Given the description of an element on the screen output the (x, y) to click on. 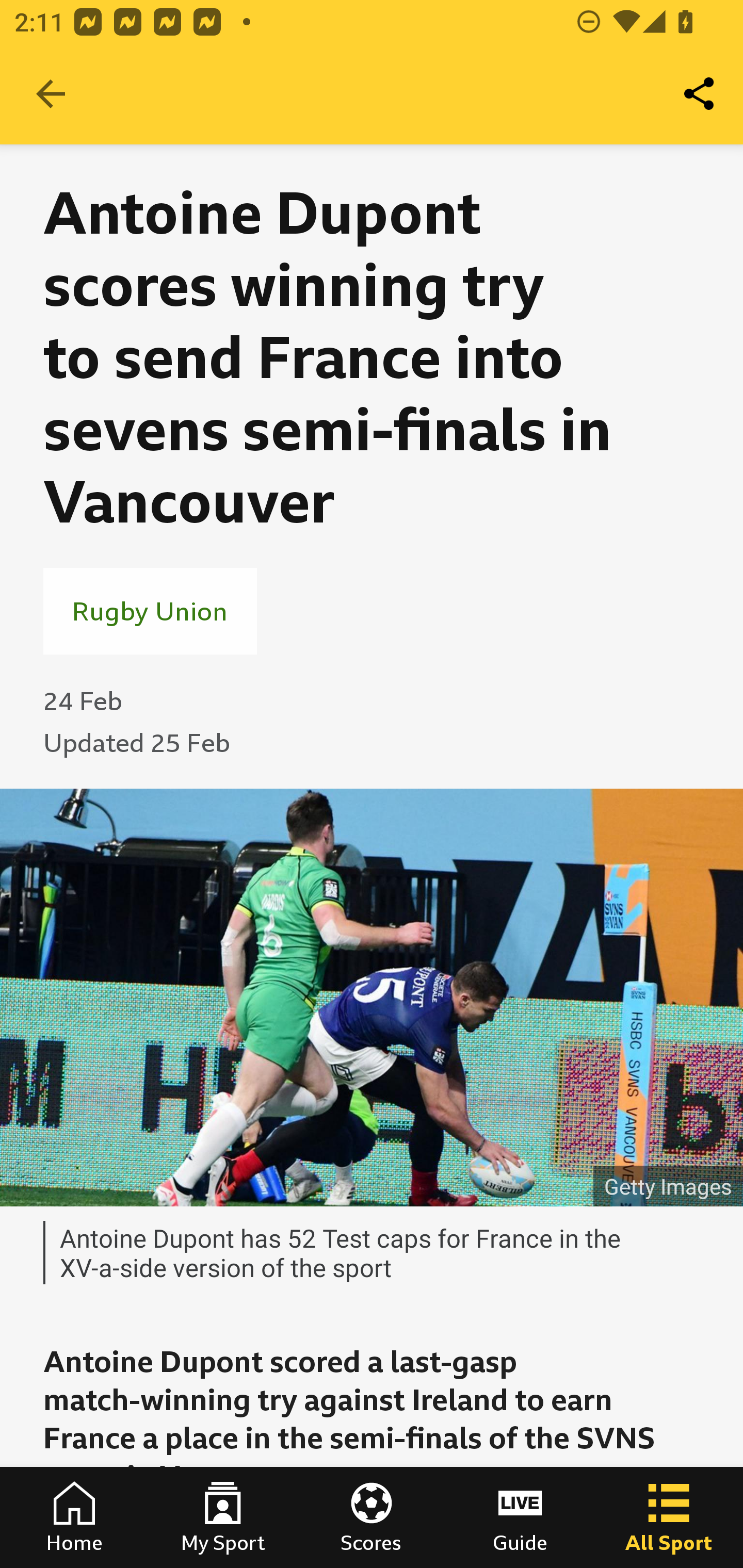
Navigate up (50, 93)
Share (699, 93)
Rugby Union (150, 610)
Home (74, 1517)
My Sport (222, 1517)
Scores (371, 1517)
Guide (519, 1517)
